Given the description of an element on the screen output the (x, y) to click on. 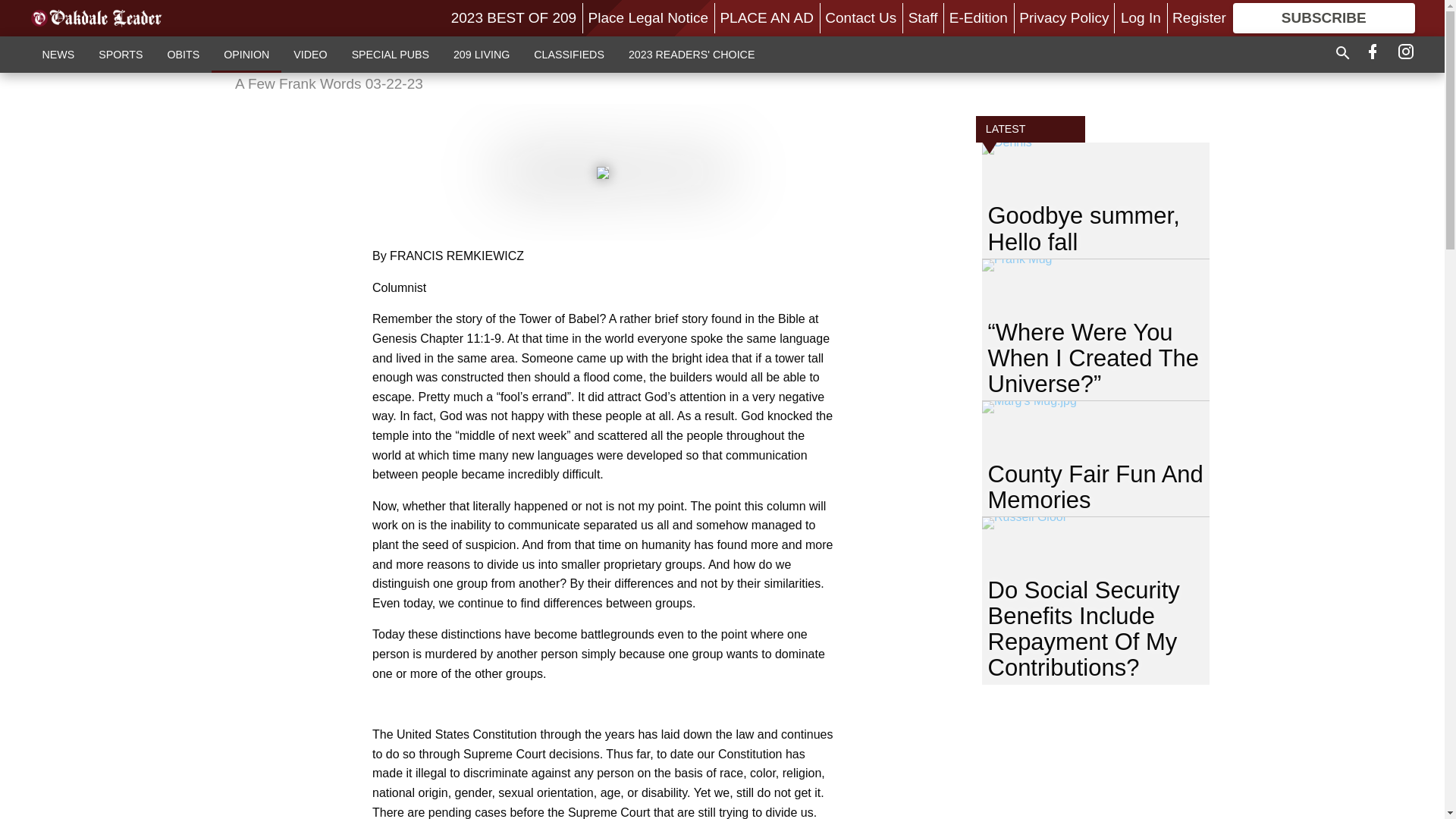
Place Legal Notice (647, 17)
Contact Us (860, 17)
Log In (1140, 17)
Register (1198, 17)
PLACE AN AD (766, 17)
SUBSCRIBE (1324, 18)
Privacy Policy (1063, 17)
E-Edition (978, 17)
2023 BEST OF 209 (513, 17)
Staff (922, 17)
